Given the description of an element on the screen output the (x, y) to click on. 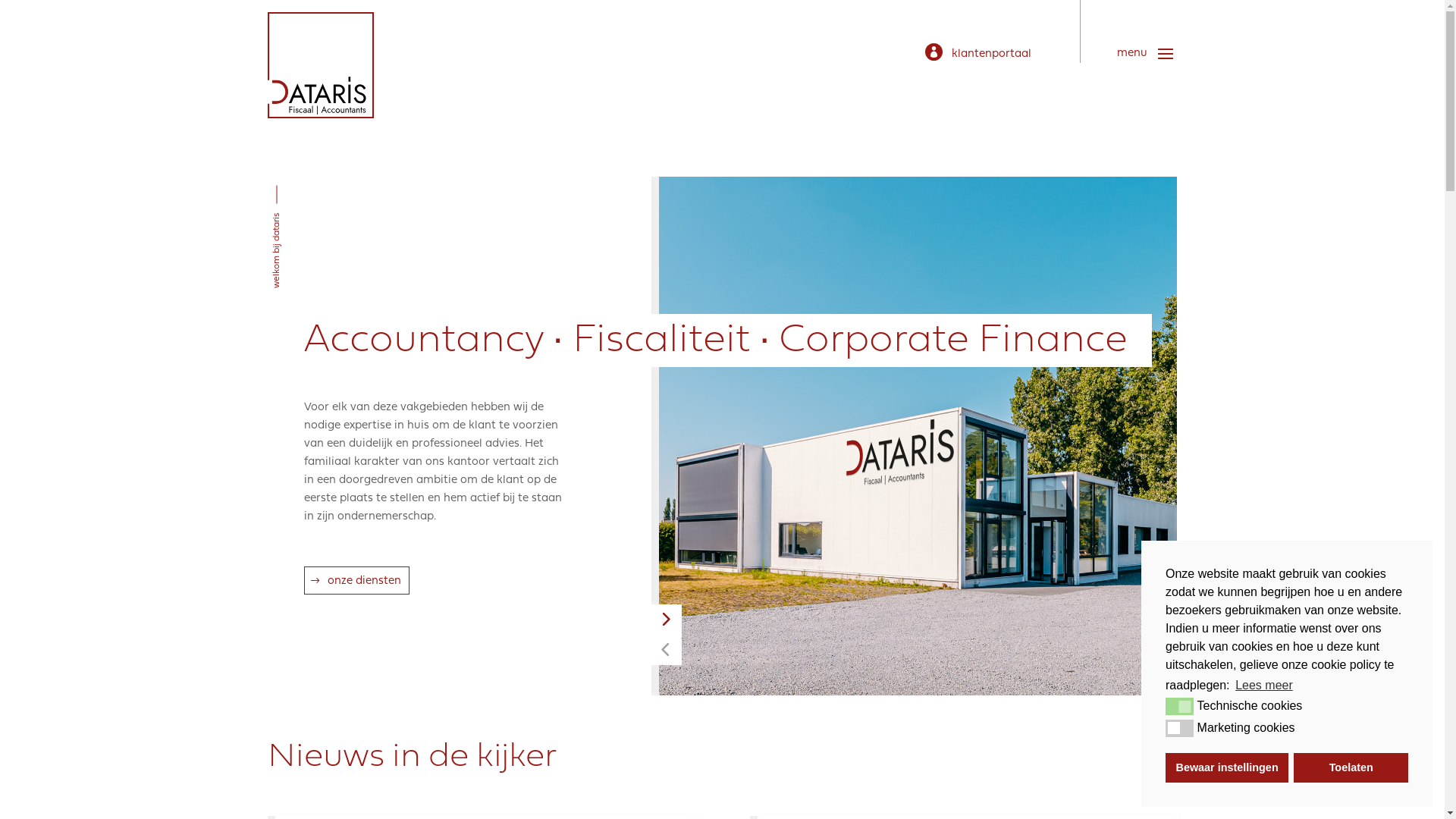
klantenportaal Element type: text (978, 53)
Bewaar instellingen Element type: text (1226, 767)
Toelaten Element type: text (1350, 767)
Lees meer Element type: text (1264, 685)
onze diensten Element type: text (356, 580)
